Given the description of an element on the screen output the (x, y) to click on. 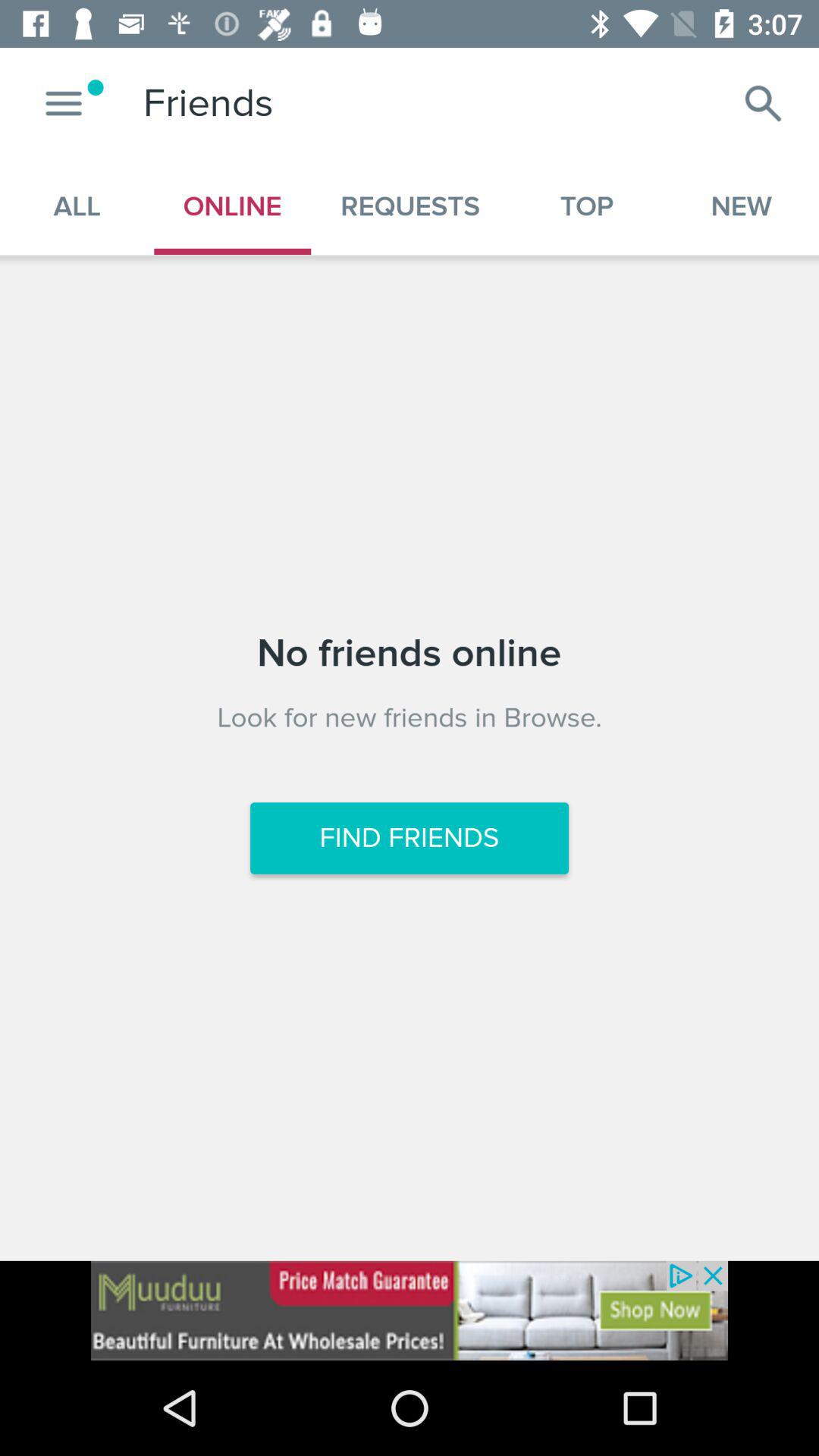
go to advertisement (409, 1310)
